Given the description of an element on the screen output the (x, y) to click on. 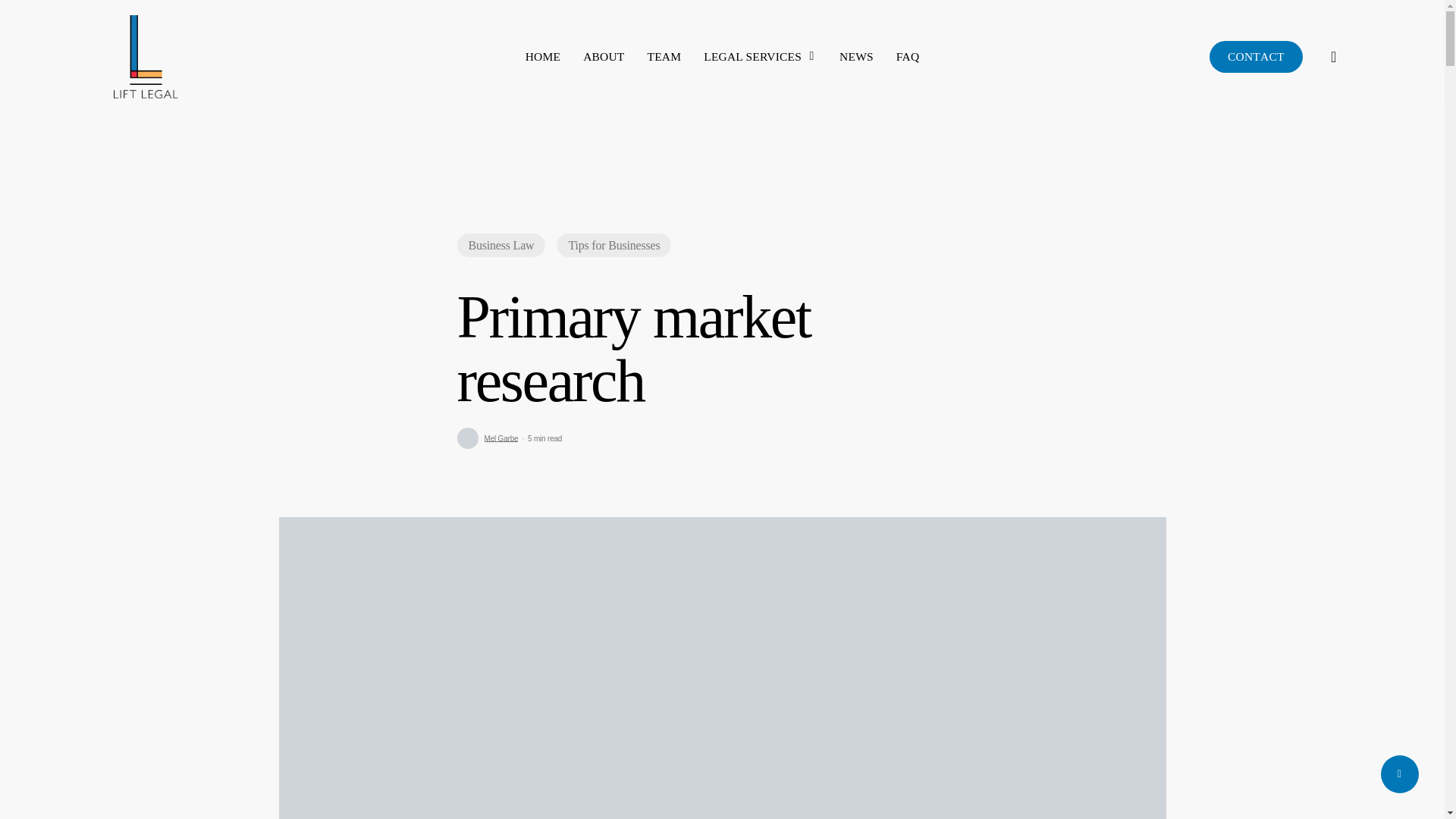
Posts by Mel Garbe (500, 438)
Mel Garbe (500, 438)
Business Law (500, 245)
LEGAL SERVICES (759, 56)
FAQ (907, 56)
HOME (542, 56)
NEWS (856, 56)
ABOUT (603, 56)
Tips for Businesses (613, 245)
CONTACT (1256, 56)
